Given the description of an element on the screen output the (x, y) to click on. 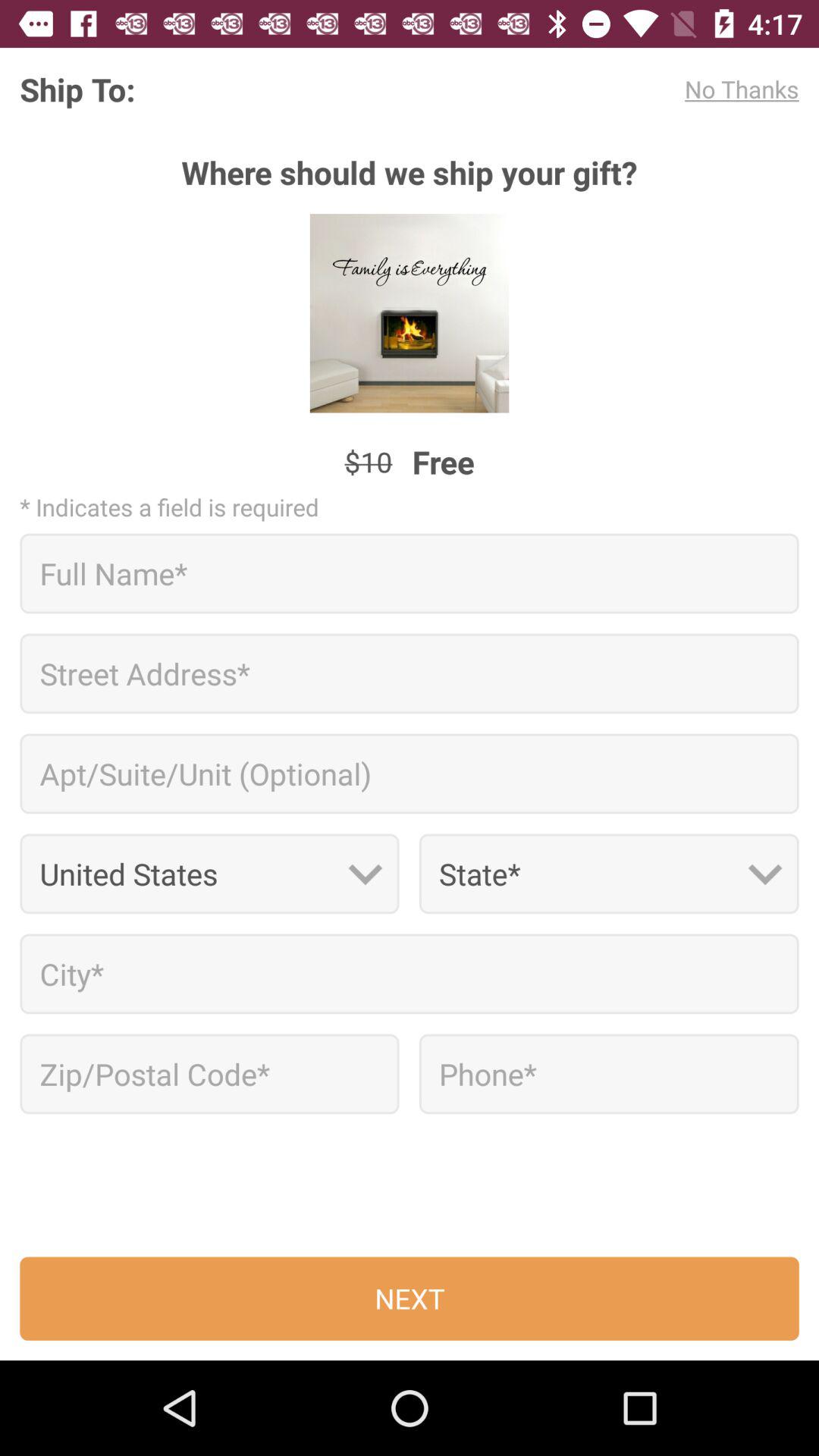
zip code box (209, 1073)
